Given the description of an element on the screen output the (x, y) to click on. 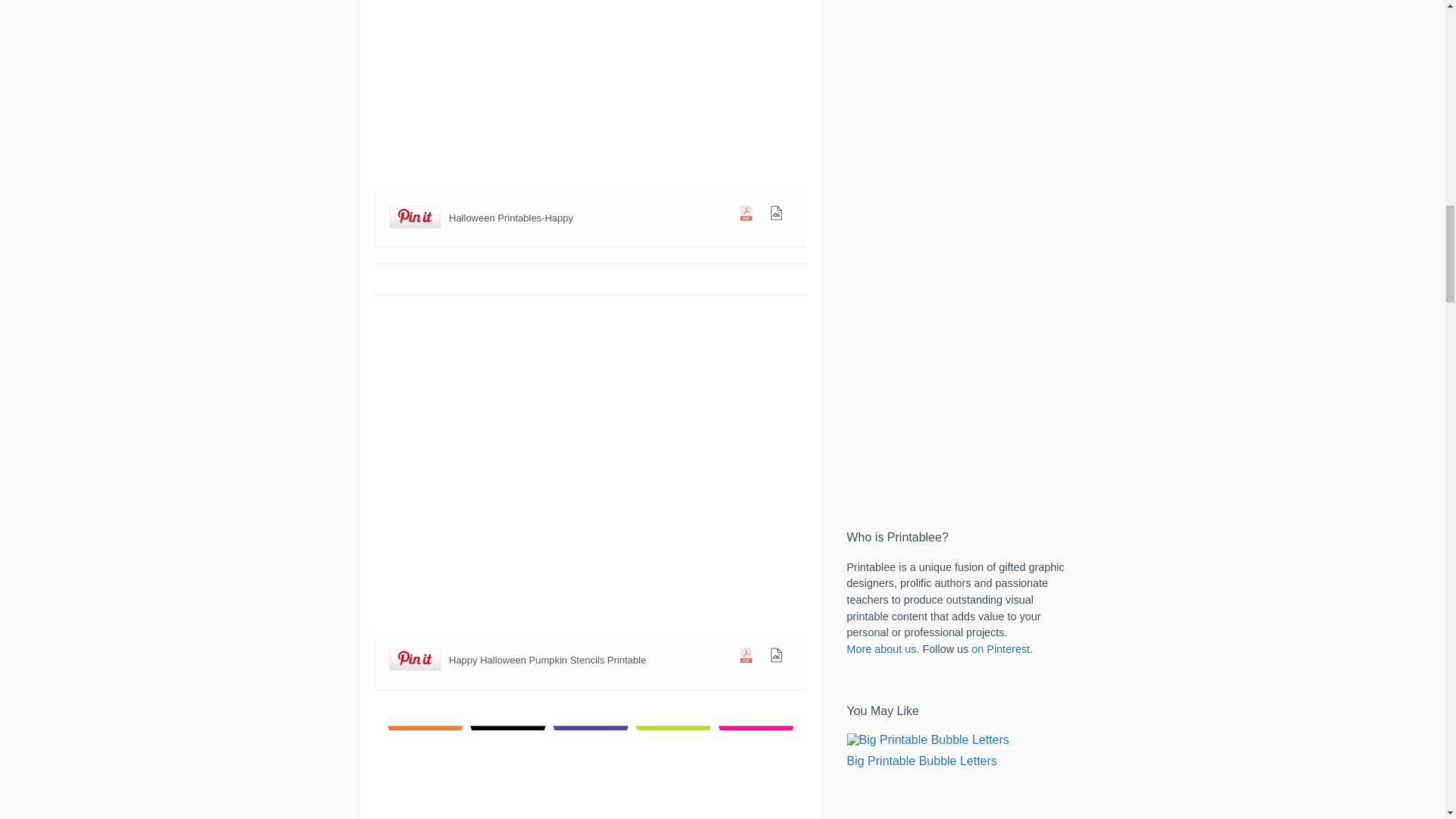
Pin it! (415, 217)
Pin it! (415, 659)
Happy Halloween Pumpkin Stencils Printable (590, 484)
Halloween Printables-Happy (590, 93)
Printable Halloween Banner (590, 762)
